Given the description of an element on the screen output the (x, y) to click on. 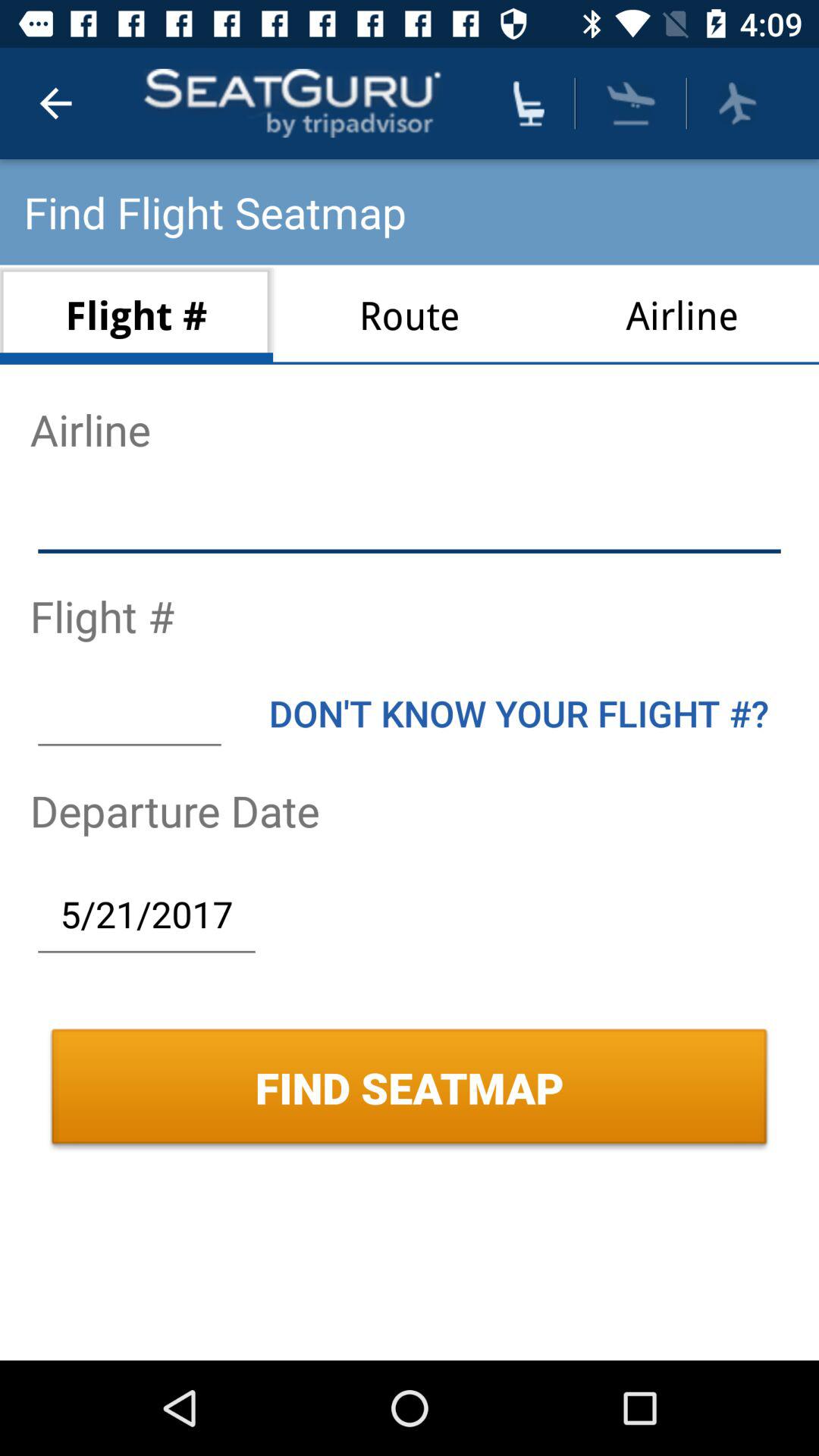
launch the item above the find flight seatmap (55, 103)
